Given the description of an element on the screen output the (x, y) to click on. 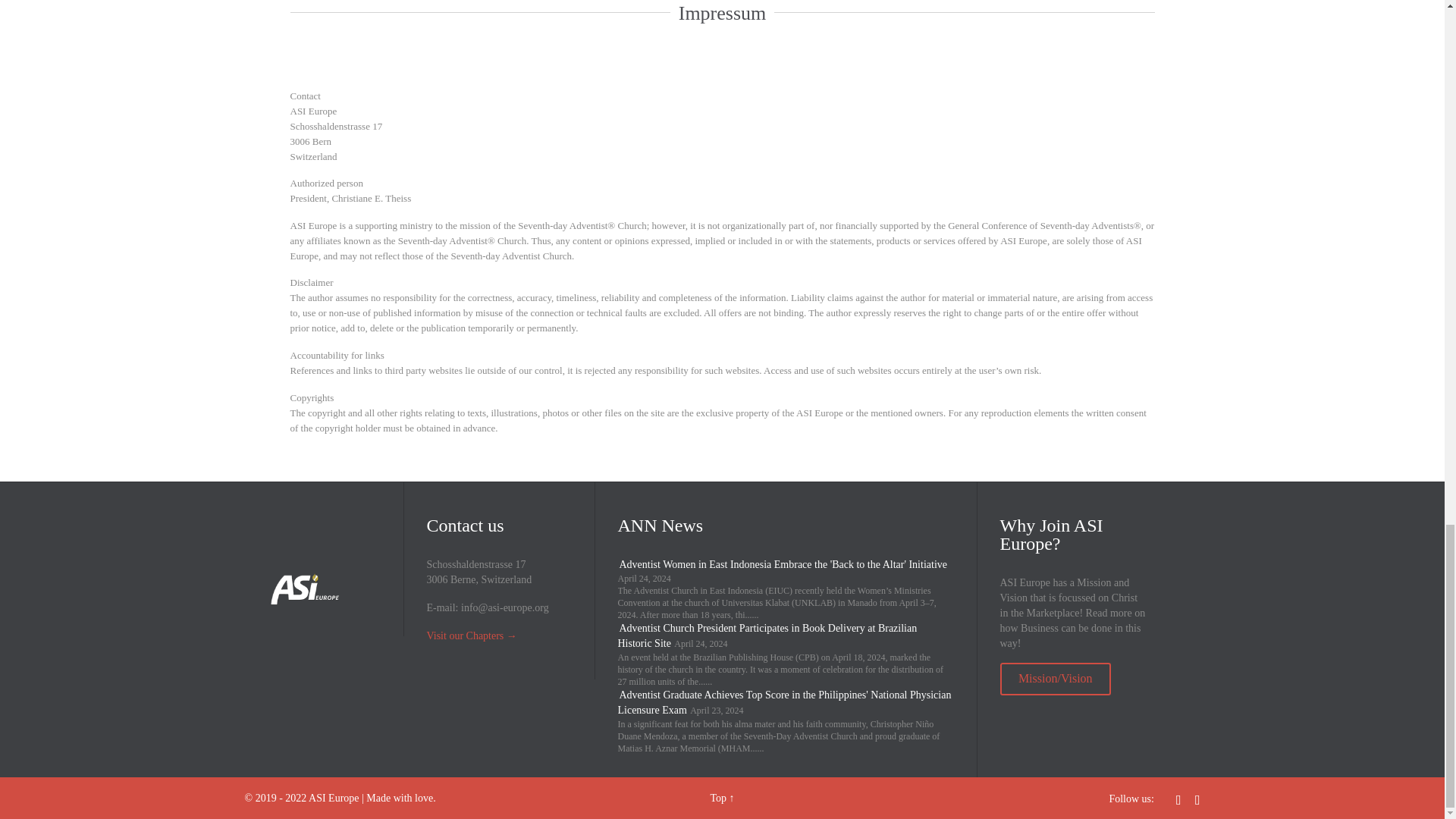
Visit our Chapters (464, 635)
Top (718, 797)
ANN News (660, 525)
Top (718, 797)
